Given the description of an element on the screen output the (x, y) to click on. 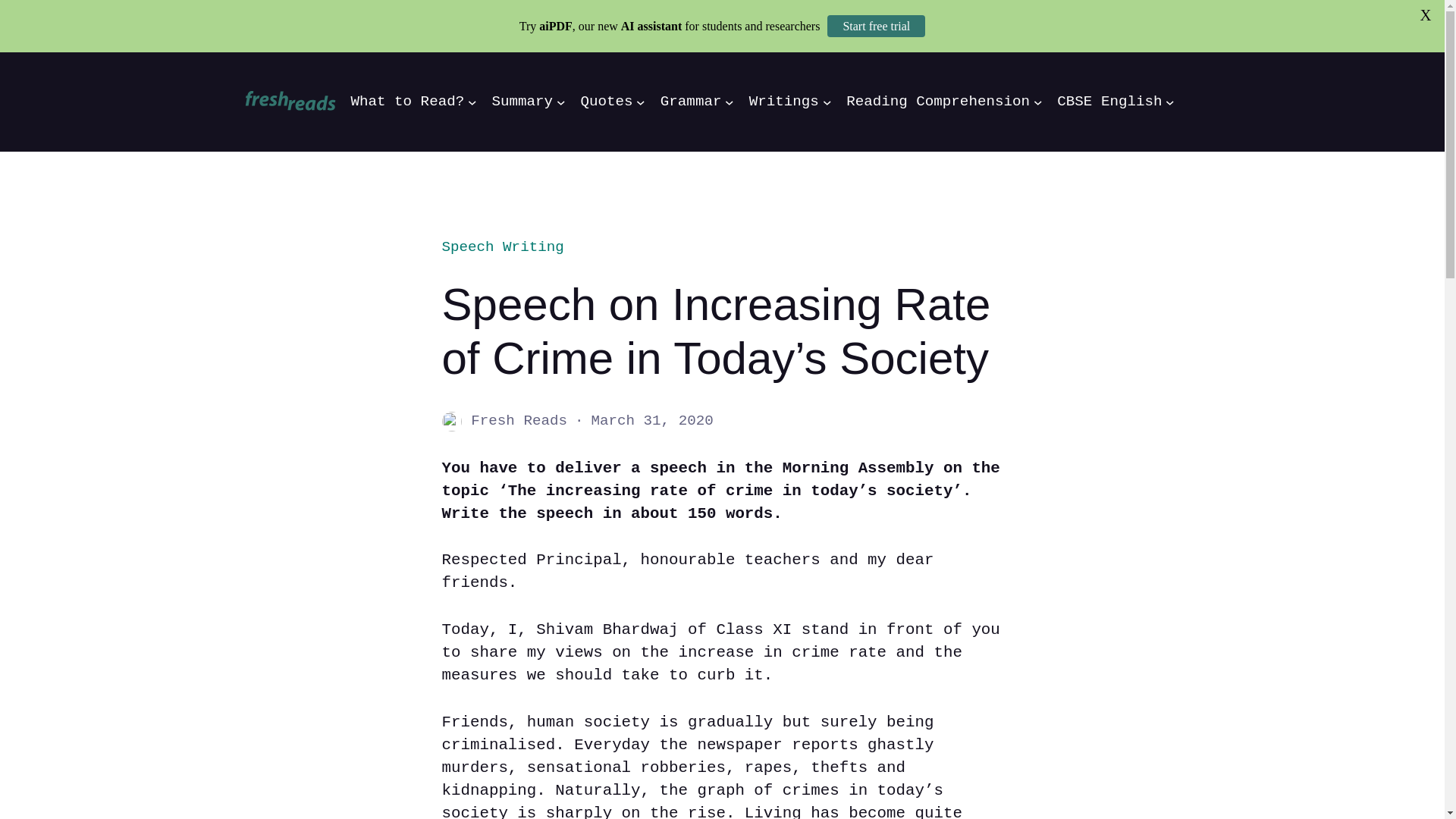
What to Read? (407, 101)
Summary (522, 101)
